Given the description of an element on the screen output the (x, y) to click on. 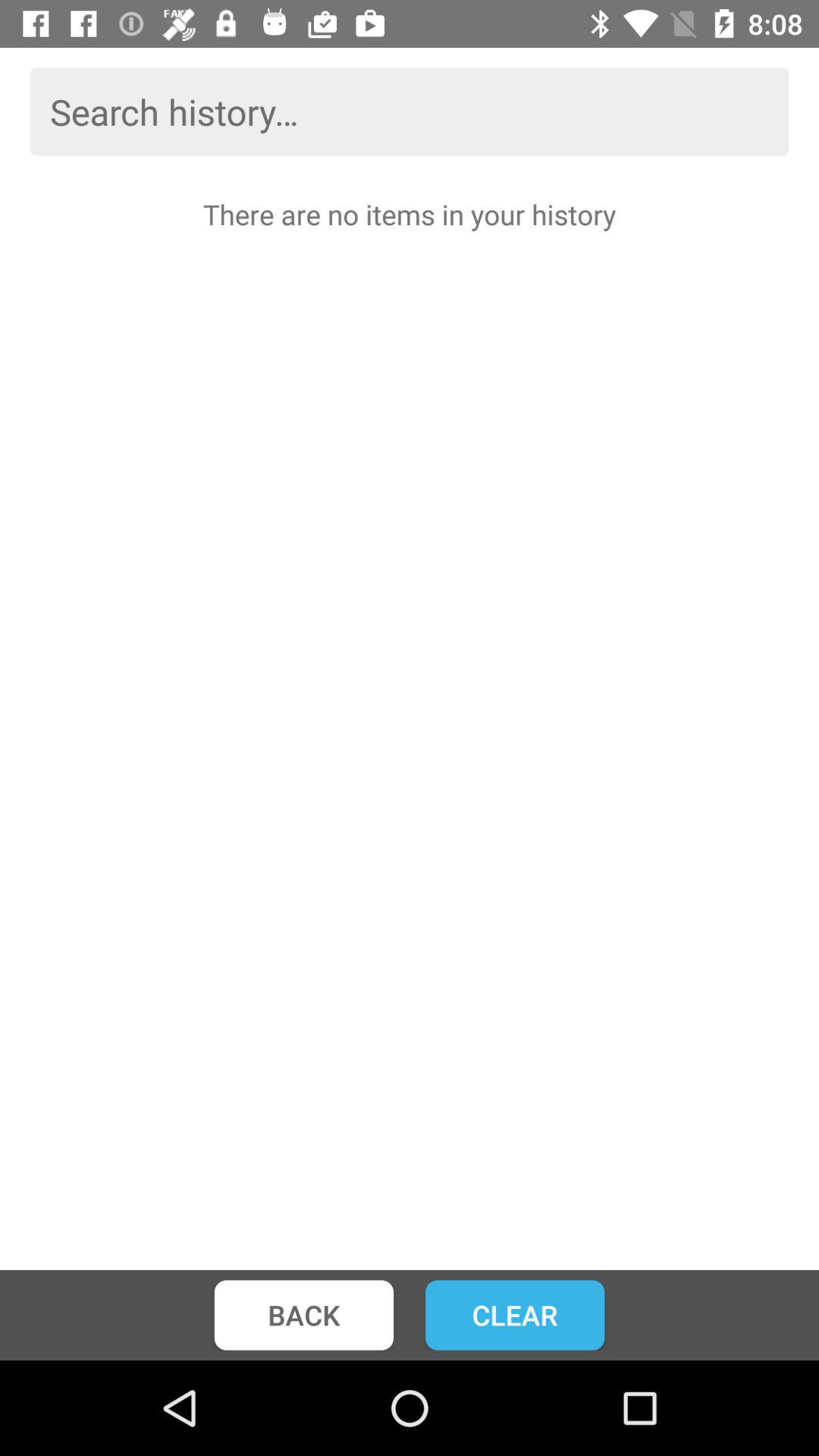
enter history (409, 111)
